Given the description of an element on the screen output the (x, y) to click on. 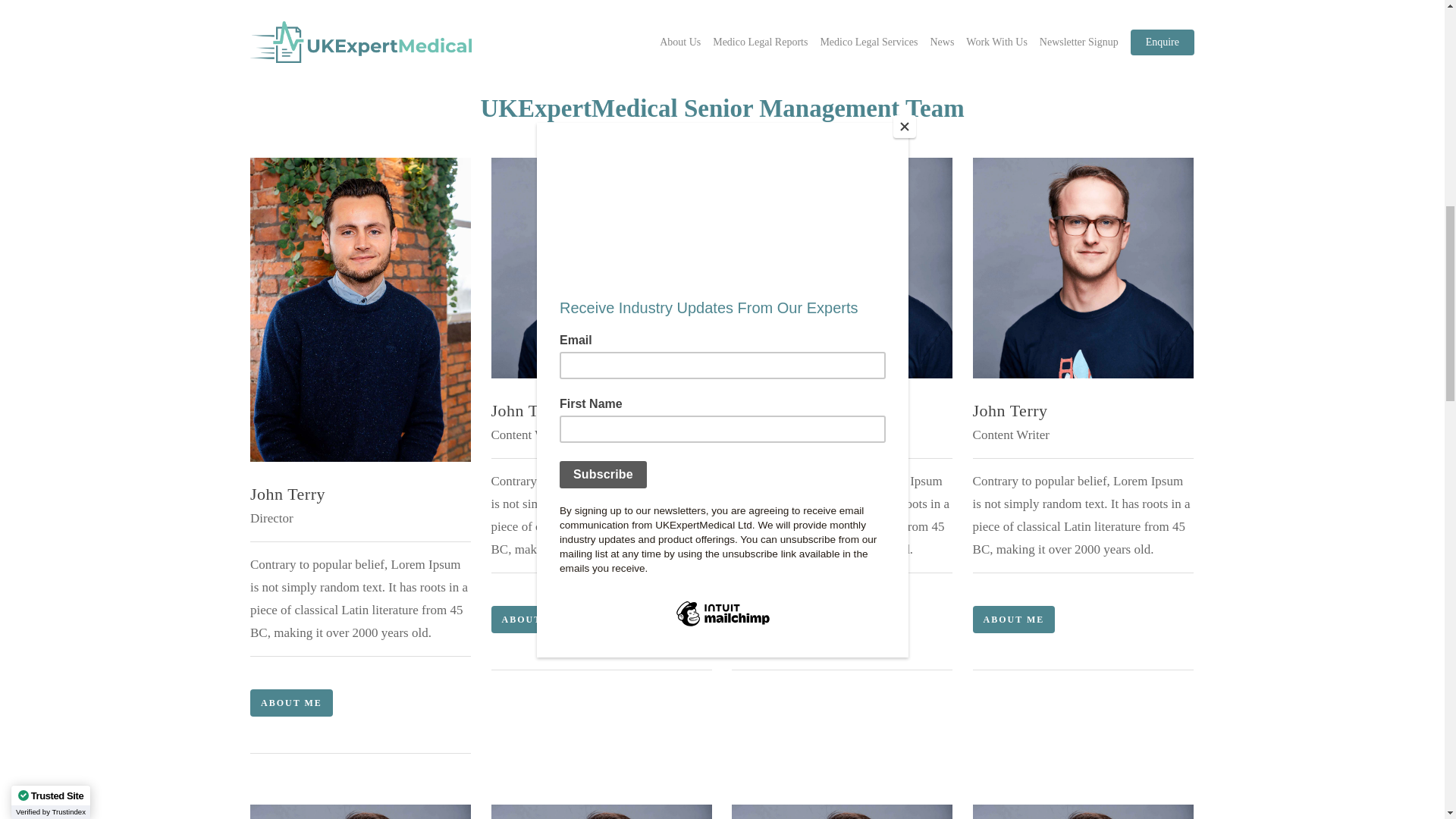
John Terry (1082, 268)
John Terry (601, 811)
John Terry (842, 811)
John Terry (842, 268)
John Terry (360, 811)
John Terry (1082, 811)
John Terry (601, 268)
